Given the description of an element on the screen output the (x, y) to click on. 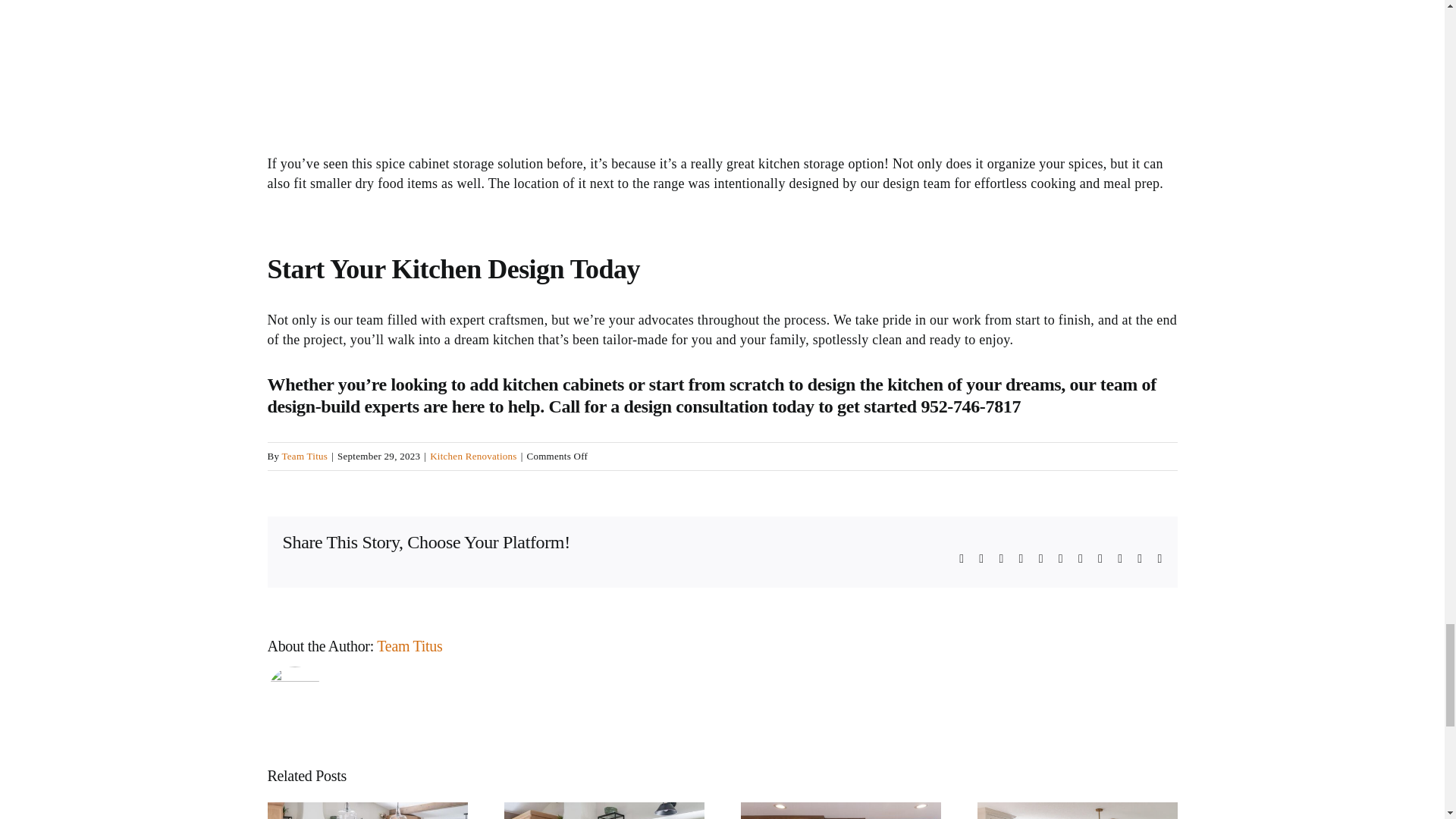
Posts by Team Titus (305, 455)
Posts by Team Titus (409, 646)
